Given the description of an element on the screen output the (x, y) to click on. 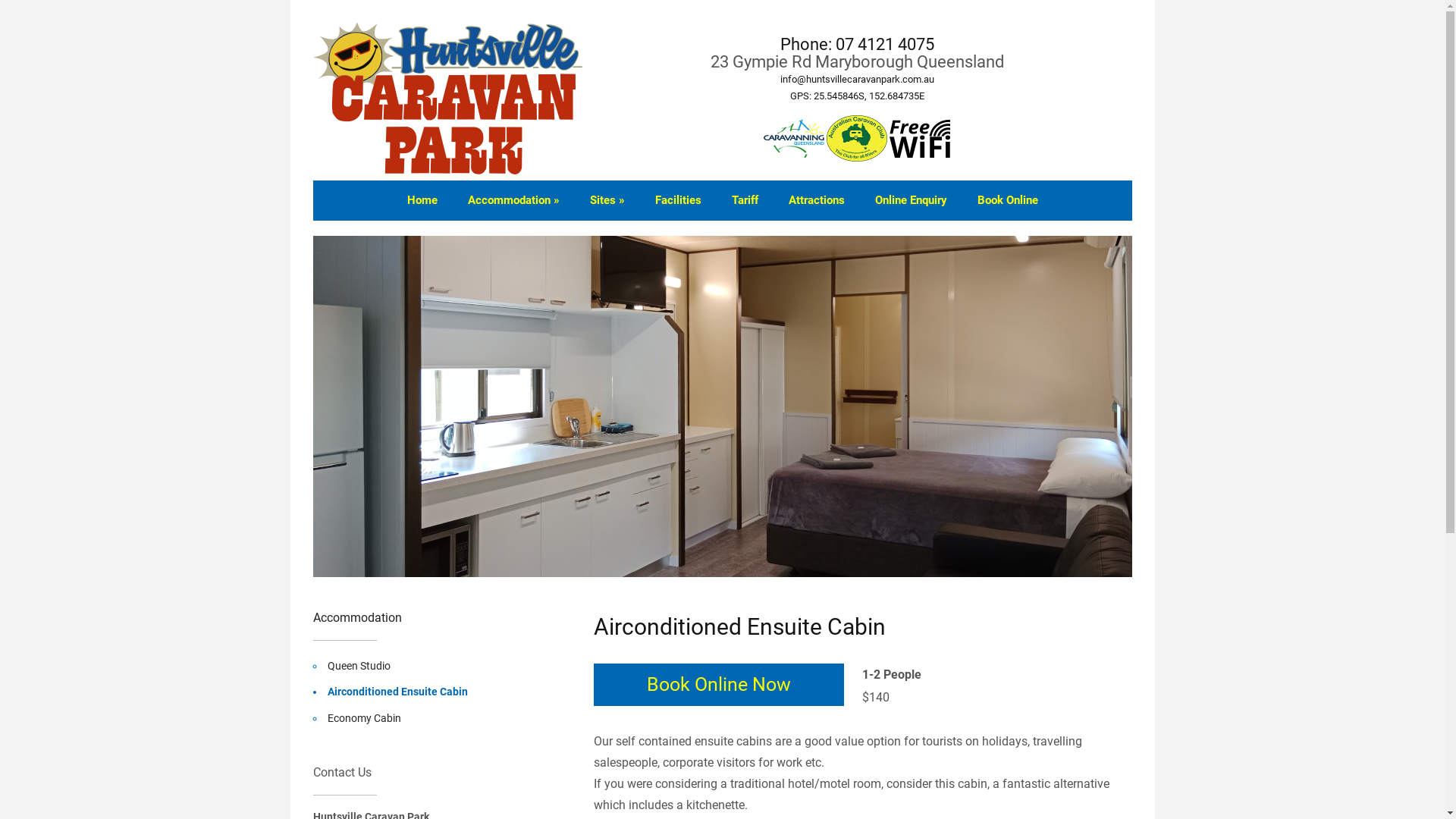
Phone: 07 4121 4075 Element type: text (856, 43)
Tariff Element type: text (744, 200)
Book Online Element type: text (1006, 200)
Attractions Element type: text (816, 200)
Home Element type: text (421, 200)
Online Enquiry Element type: text (910, 200)
Economy Cabin Element type: text (364, 718)
info@huntsvillecaravanpark.com.au Element type: text (856, 78)
Queen Studio Element type: text (358, 665)
Facilities Element type: text (678, 200)
Airconditioned Ensuite Cabin Element type: text (397, 691)
GPS: 25.545846S, 152.684735E Element type: text (857, 95)
Accommodation Element type: text (356, 617)
Book Online Now Element type: text (718, 684)
